Given the description of an element on the screen output the (x, y) to click on. 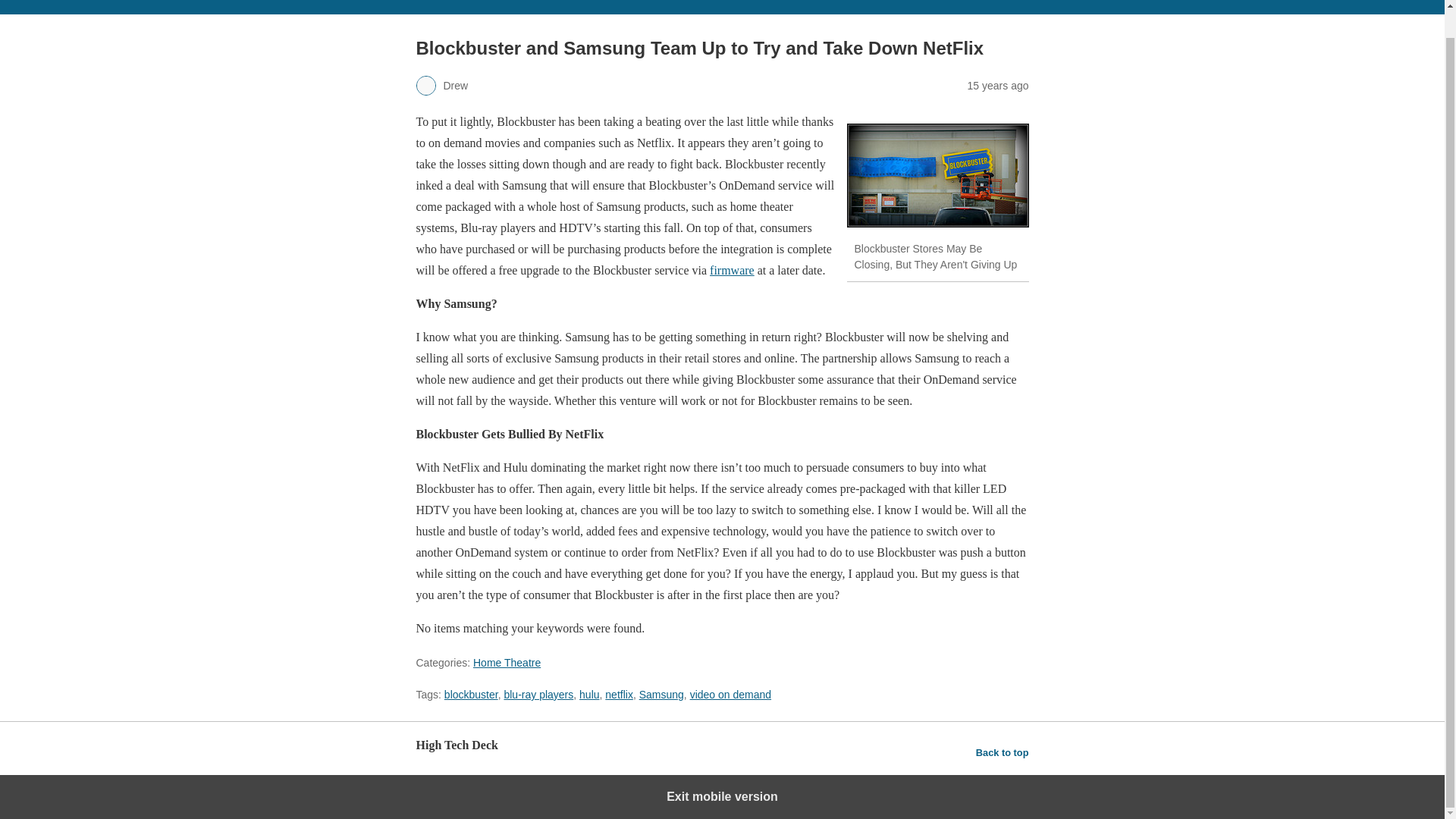
blockbuster (470, 694)
blu-ray players (538, 694)
blockbuster (936, 175)
Home Theatre (506, 662)
video on demand (730, 694)
Back to top (1002, 752)
hulu (588, 694)
netflix (619, 694)
firmware (732, 269)
firmware (732, 269)
